Given the description of an element on the screen output the (x, y) to click on. 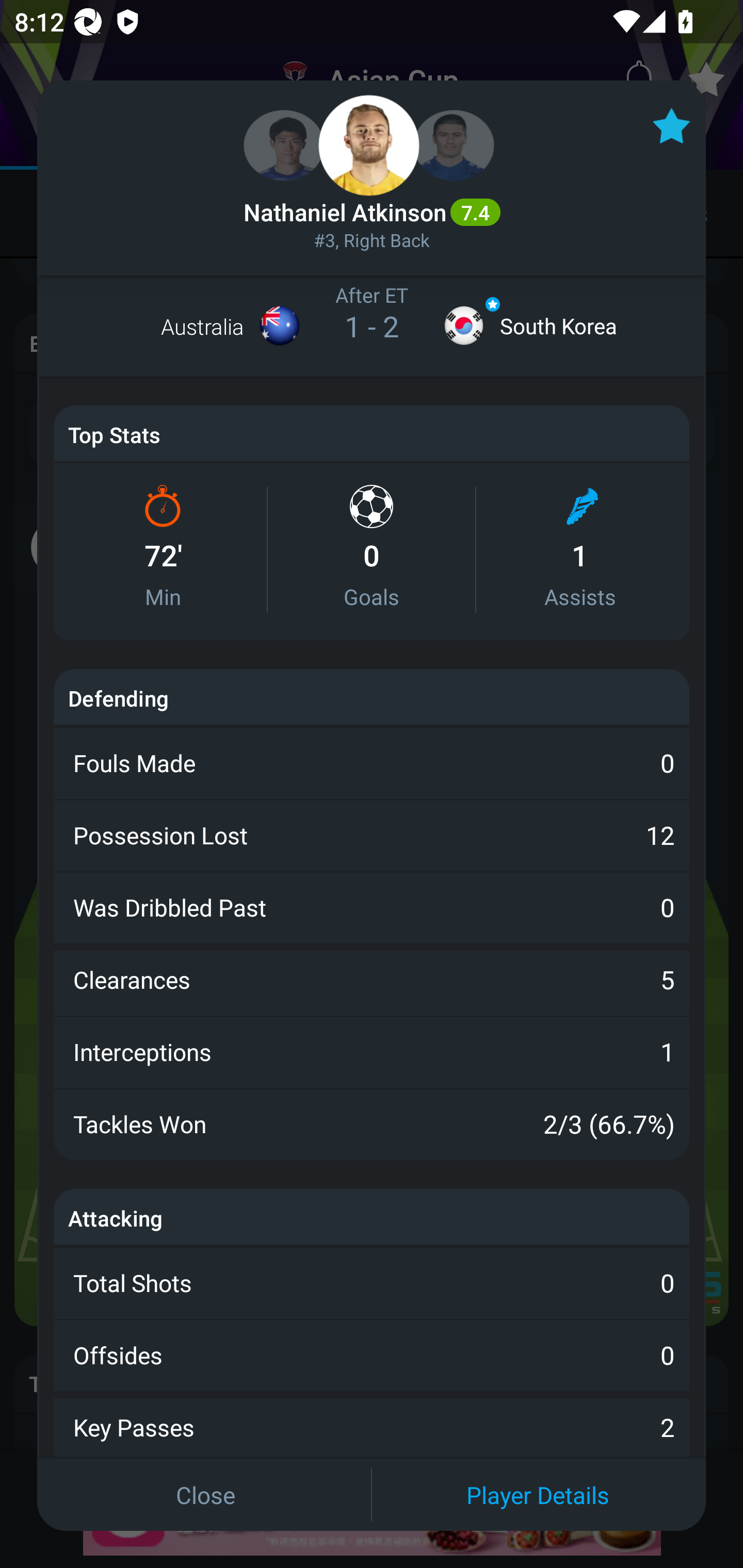
Australia After ET 1 - 2 South Korea (371, 325)
Defending (118, 697)
Attacking (115, 1218)
Close (205, 1494)
Player Details (537, 1494)
